Given the description of an element on the screen output the (x, y) to click on. 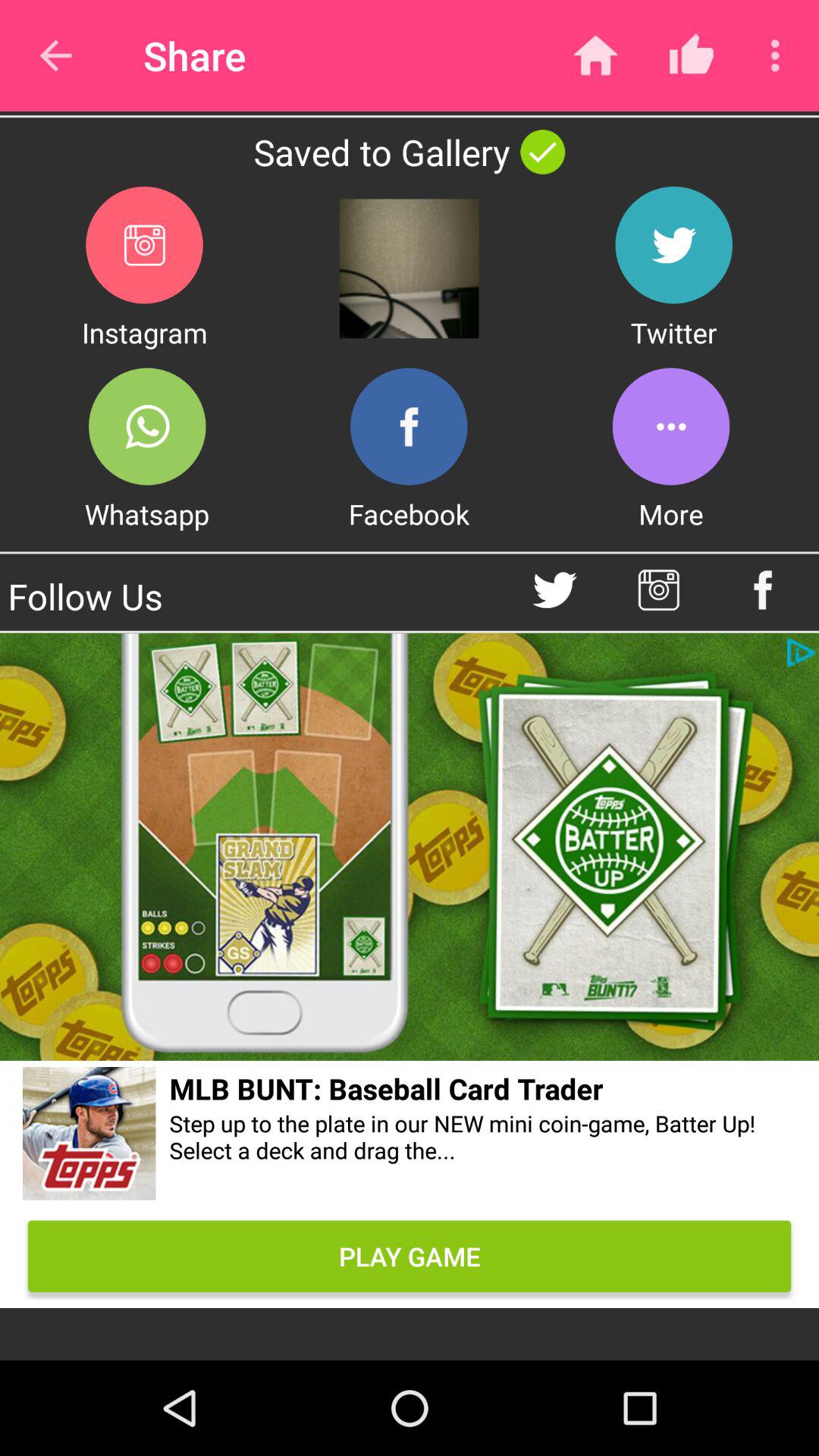
share on whatsapp (146, 426)
